Given the description of an element on the screen output the (x, y) to click on. 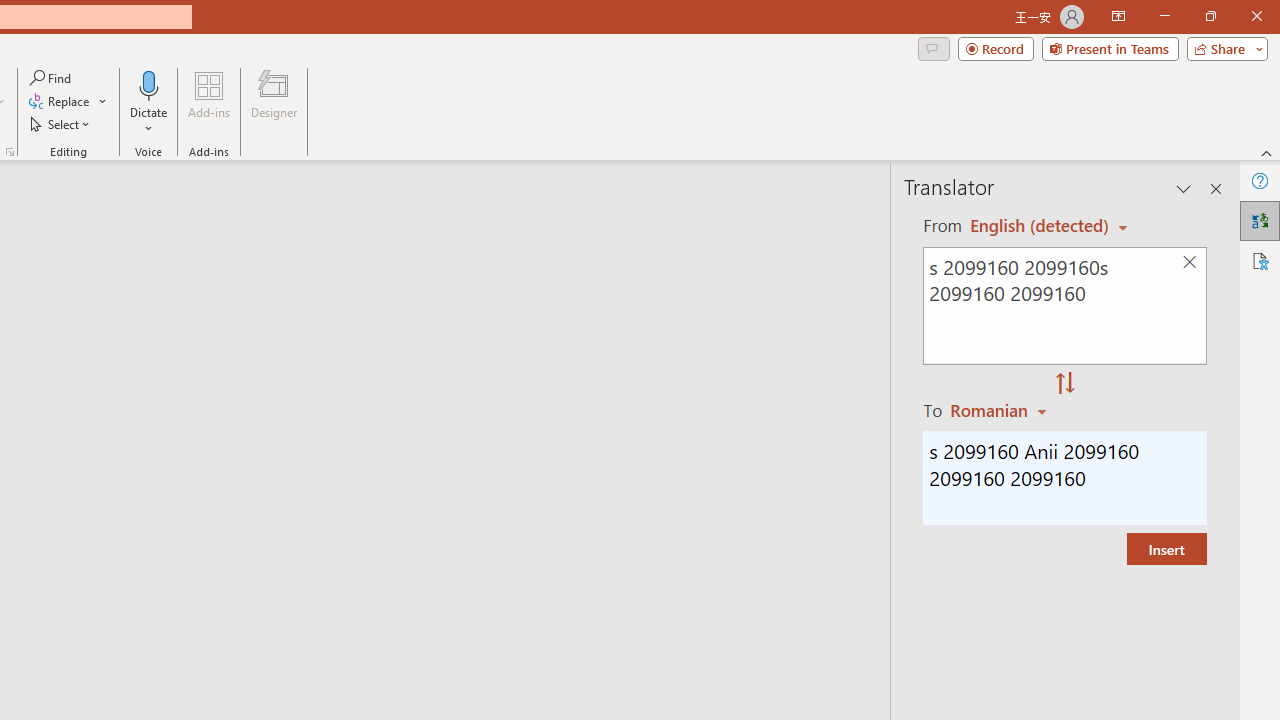
Select (61, 124)
Clear text (1189, 262)
Translator (1260, 220)
Find... (51, 78)
